Given the description of an element on the screen output the (x, y) to click on. 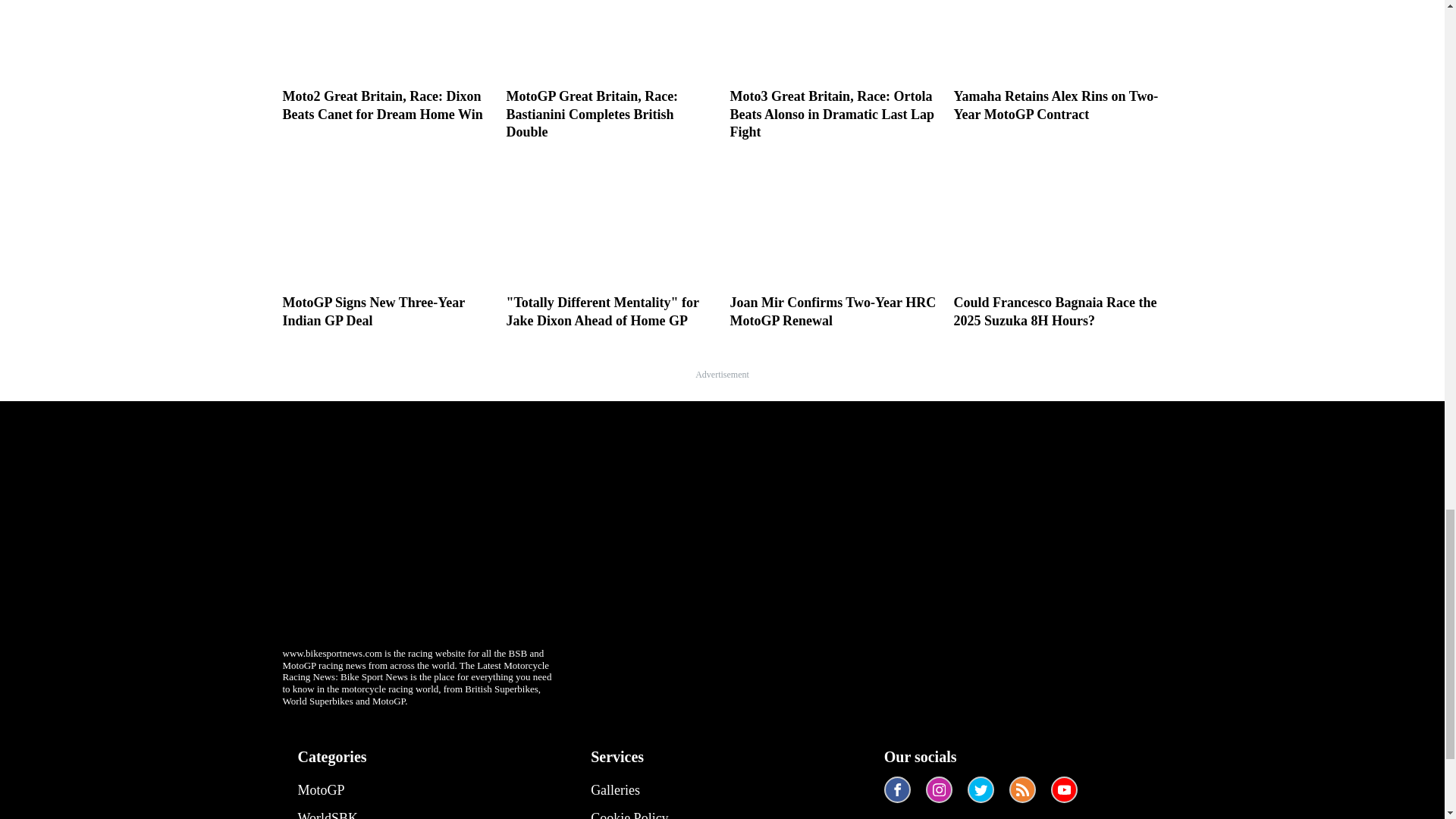
MotoGP Signs New Three-Year Indian GP Deal (386, 243)
Joan Mir Confirms Two-Year HRC MotoGP Renewal (833, 243)
Yamaha Retains Alex Rins on Two-Year MotoGP Contract (1057, 61)
Could Francesco Bagnaia Race the 2025 Suzuka 8H Hours? (1057, 243)
